Given the description of an element on the screen output the (x, y) to click on. 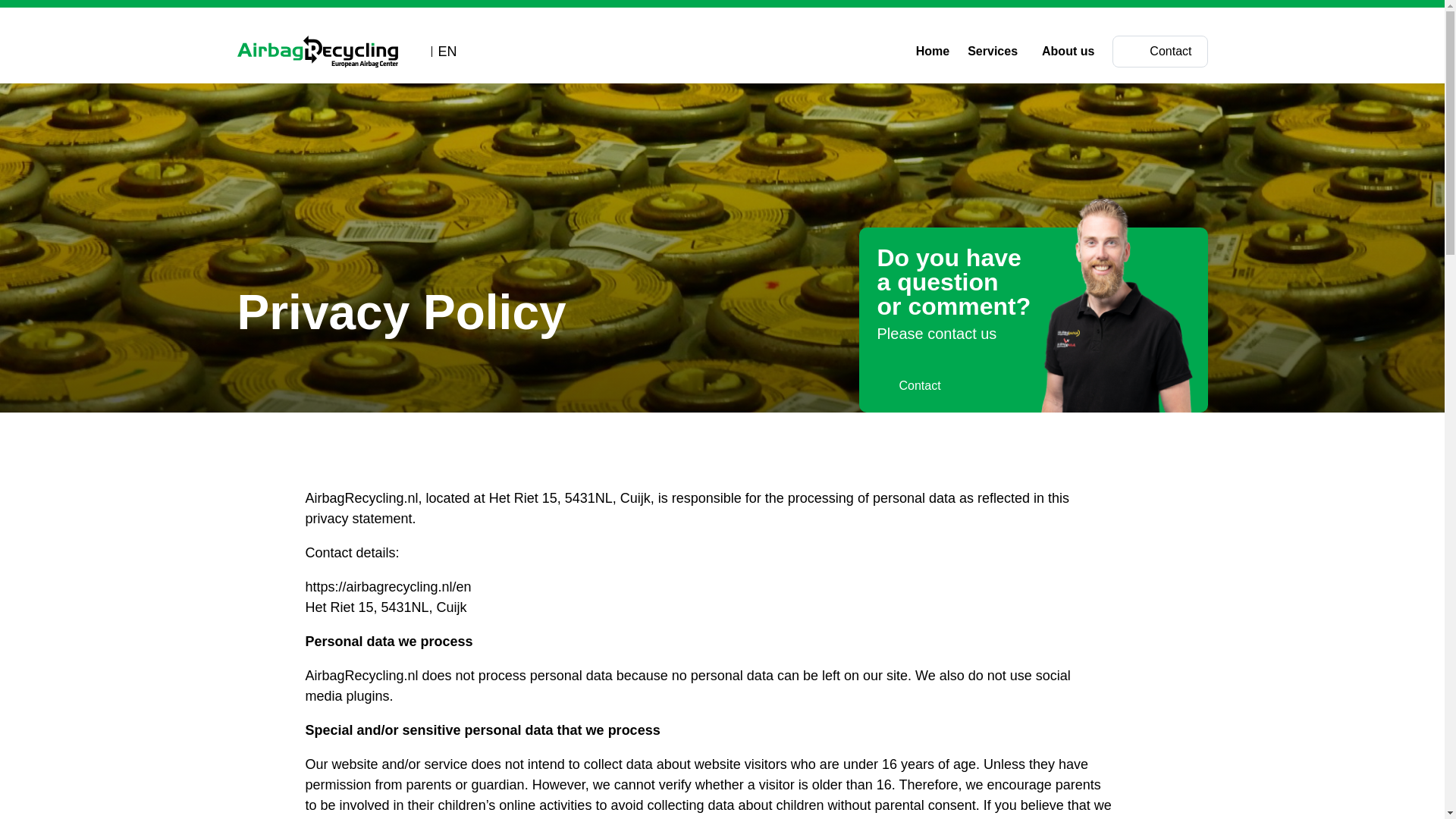
About us (1072, 51)
Contact (908, 385)
EN (440, 50)
Contact (1159, 51)
Terug naar de homepage (316, 51)
Home (932, 51)
Services (995, 51)
